Given the description of an element on the screen output the (x, y) to click on. 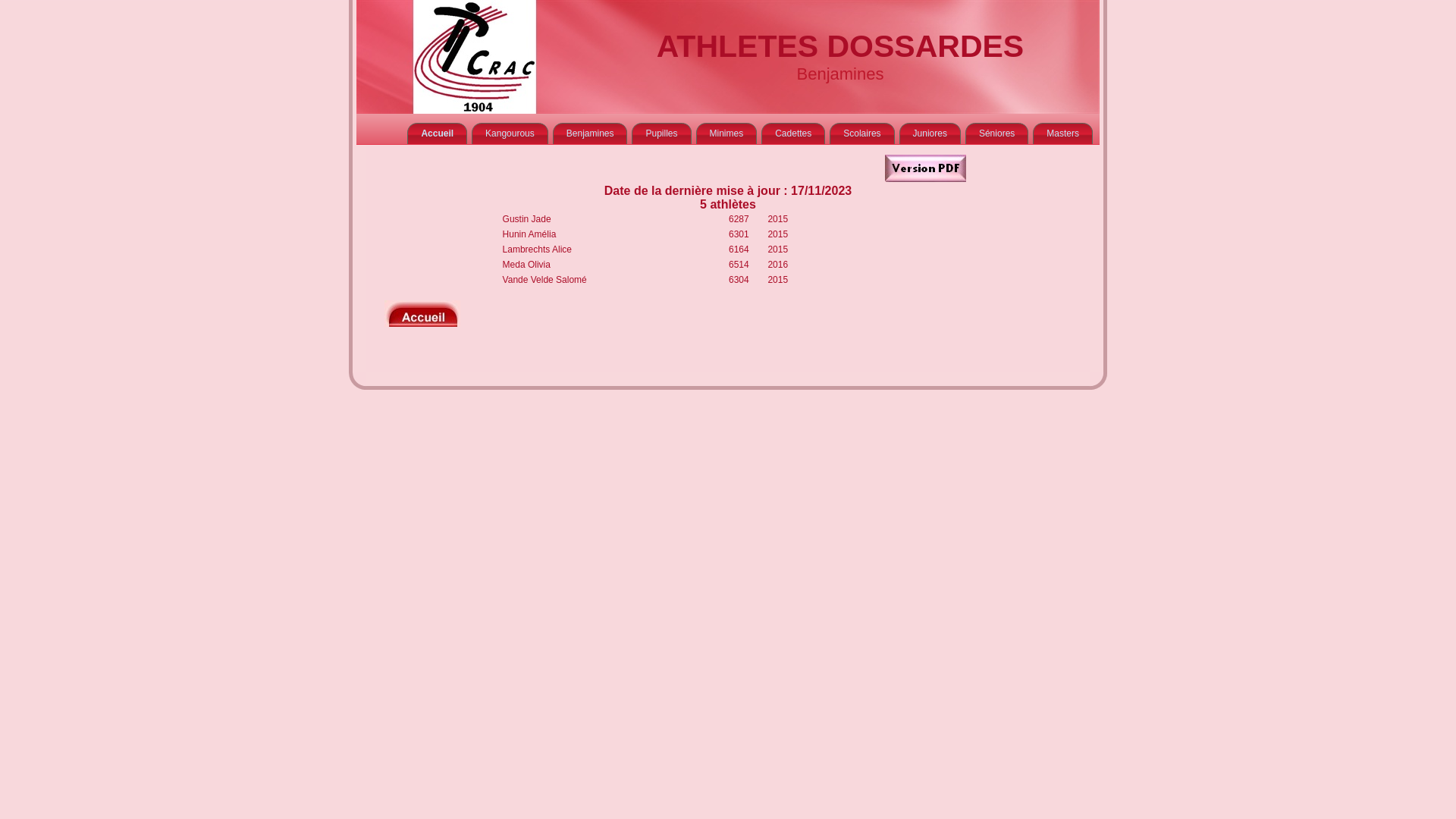
Accueil Element type: text (437, 133)
Kangourous Element type: text (509, 133)
Cadettes Element type: text (793, 133)
Scolaires Element type: text (861, 133)
Masters Element type: text (1062, 133)
Pupilles Element type: text (660, 133)
Benjamines Element type: text (589, 133)
Minimes Element type: text (726, 133)
Juniores Element type: text (929, 133)
